Given the description of an element on the screen output the (x, y) to click on. 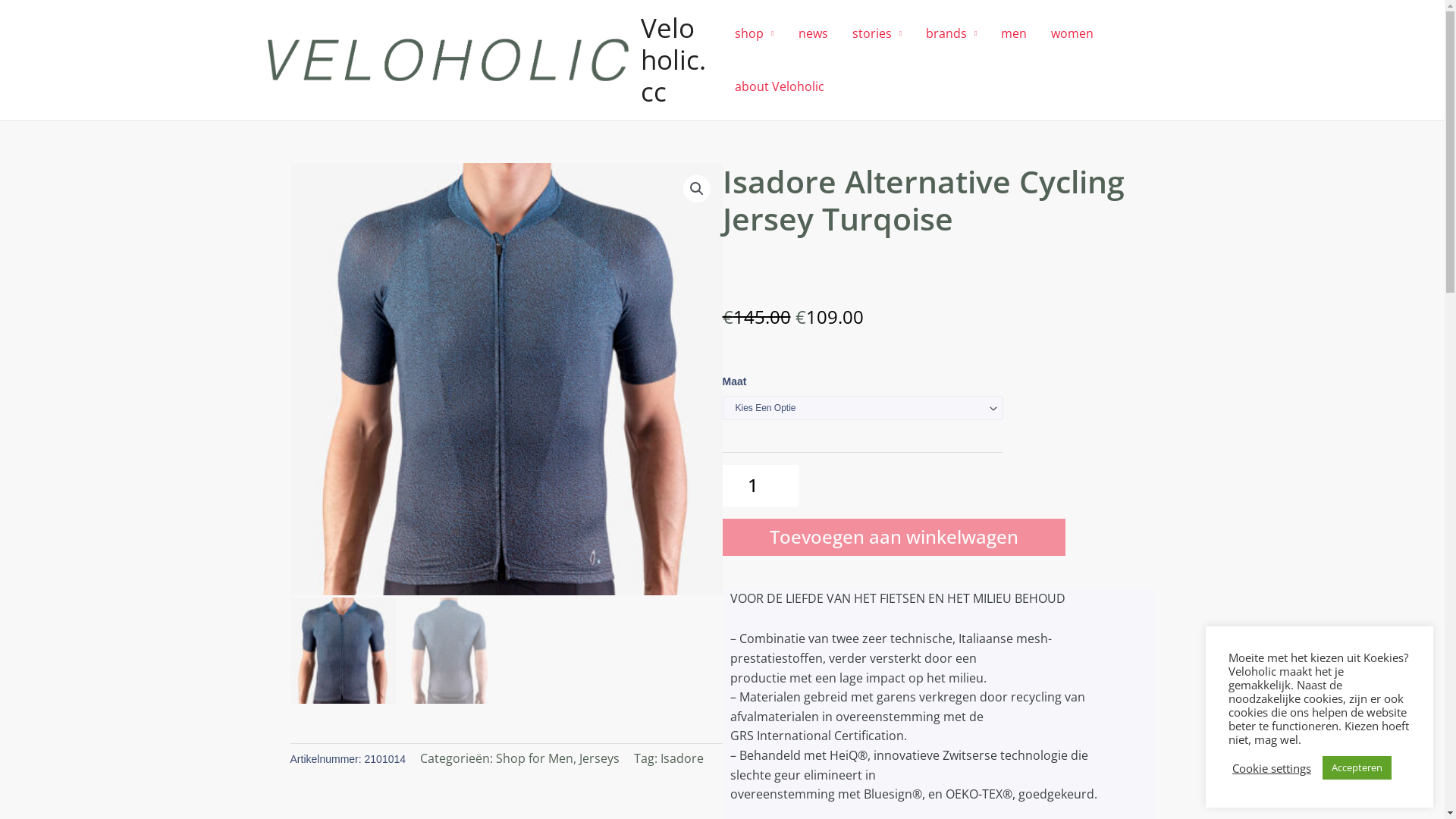
shop Element type: text (753, 32)
Isadore Element type: text (681, 757)
Jerseys Element type: text (599, 757)
Shop for Men Element type: text (534, 757)
Toevoegen aan winkelwagen Element type: text (892, 536)
news Element type: text (813, 32)
Cookie settings Element type: text (1271, 768)
about Veloholic Element type: text (779, 85)
DSC00301 Element type: hover (505, 379)
stories Element type: text (876, 32)
Veloholic.cc Element type: text (673, 59)
women Element type: text (1071, 32)
brands Element type: text (950, 32)
Accepteren Element type: text (1356, 767)
men Element type: text (1013, 32)
